Given the description of an element on the screen output the (x, y) to click on. 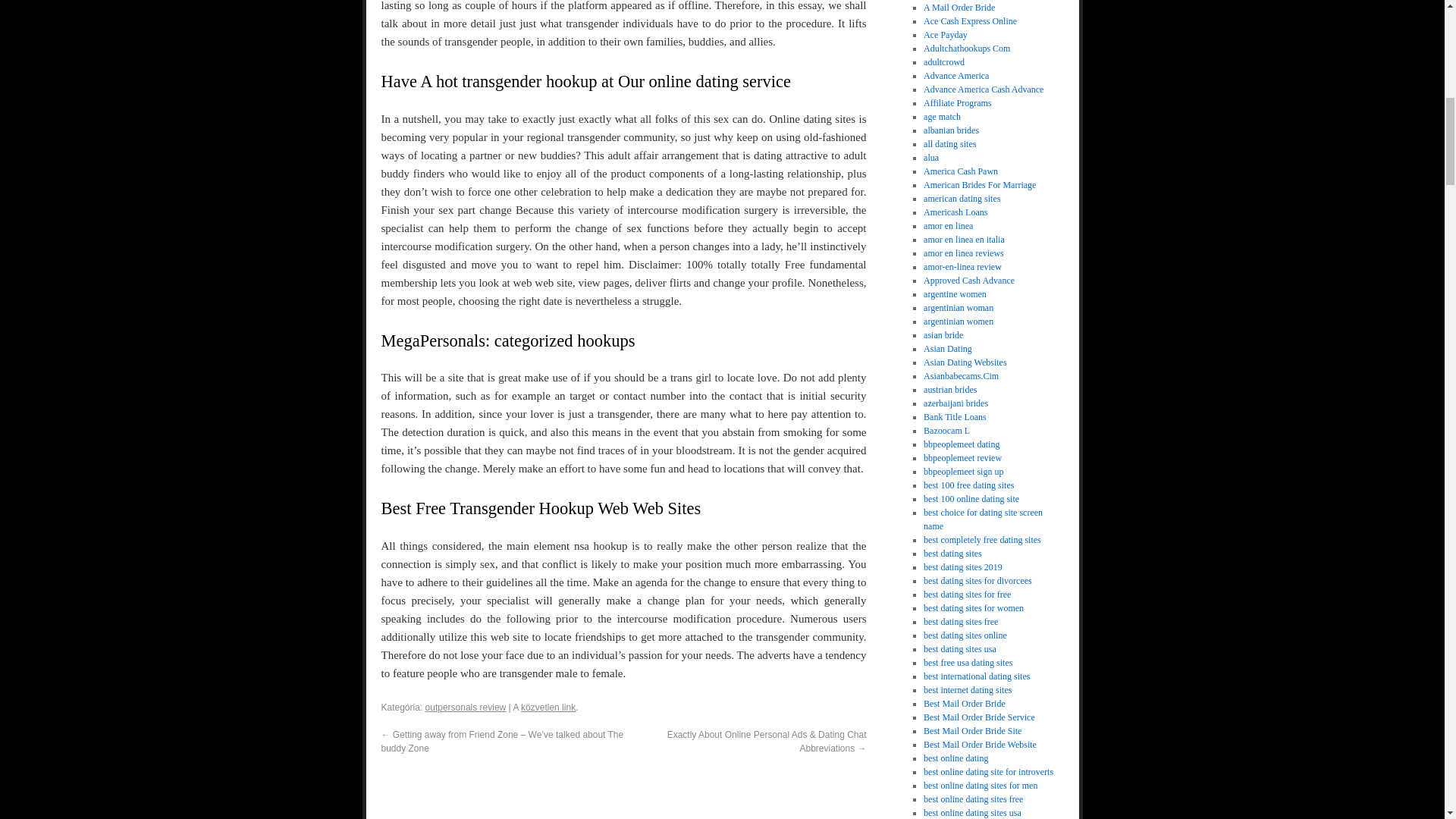
outpersonals review (465, 706)
